Given the description of an element on the screen output the (x, y) to click on. 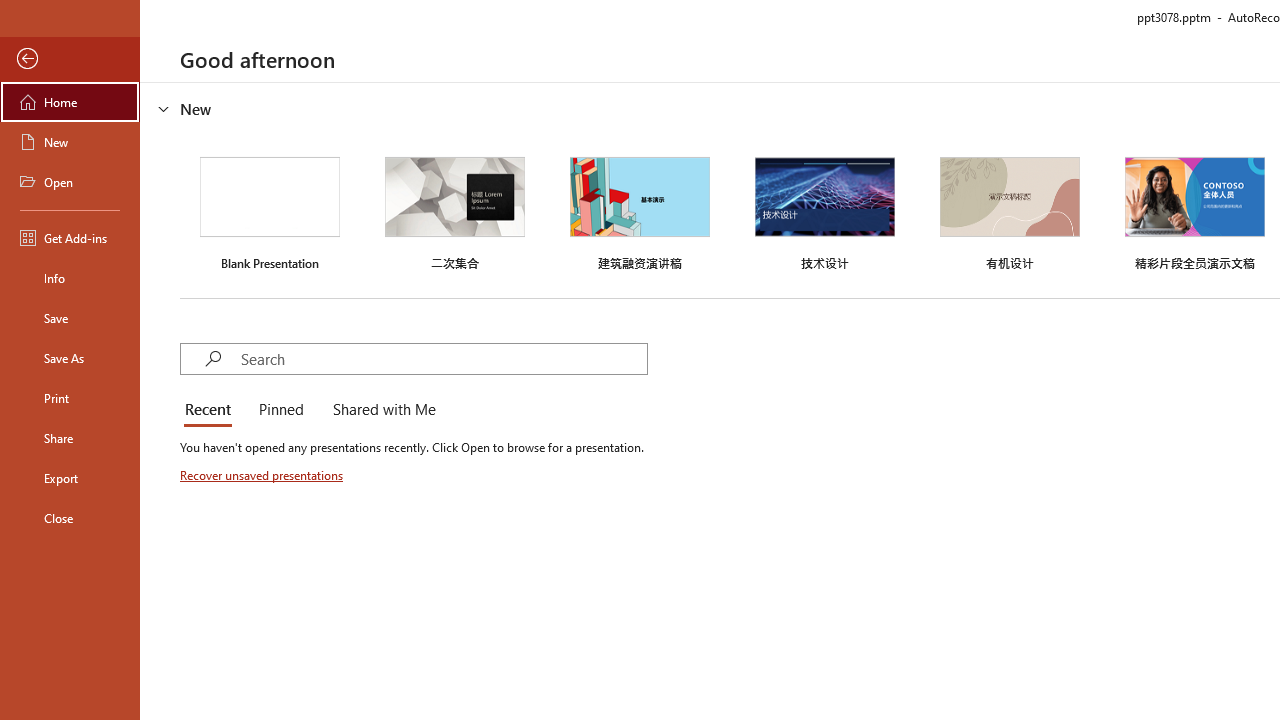
New (69, 141)
Blank Presentation (269, 211)
Get Add-ins (69, 237)
Recover unsaved presentations (263, 475)
Recent (212, 410)
Info (69, 277)
